Given the description of an element on the screen output the (x, y) to click on. 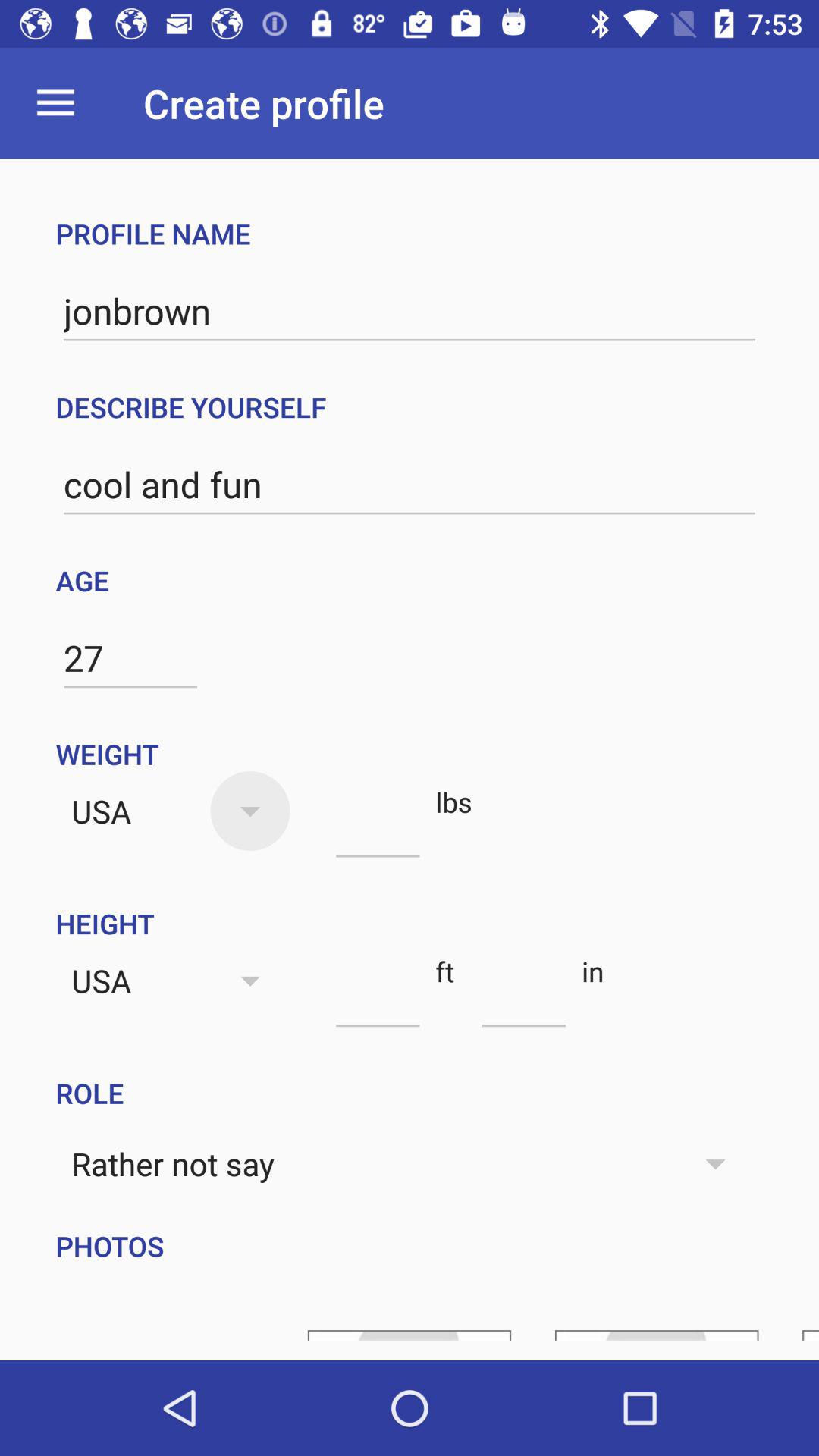
select the icon below profile name icon (409, 311)
